Given the description of an element on the screen output the (x, y) to click on. 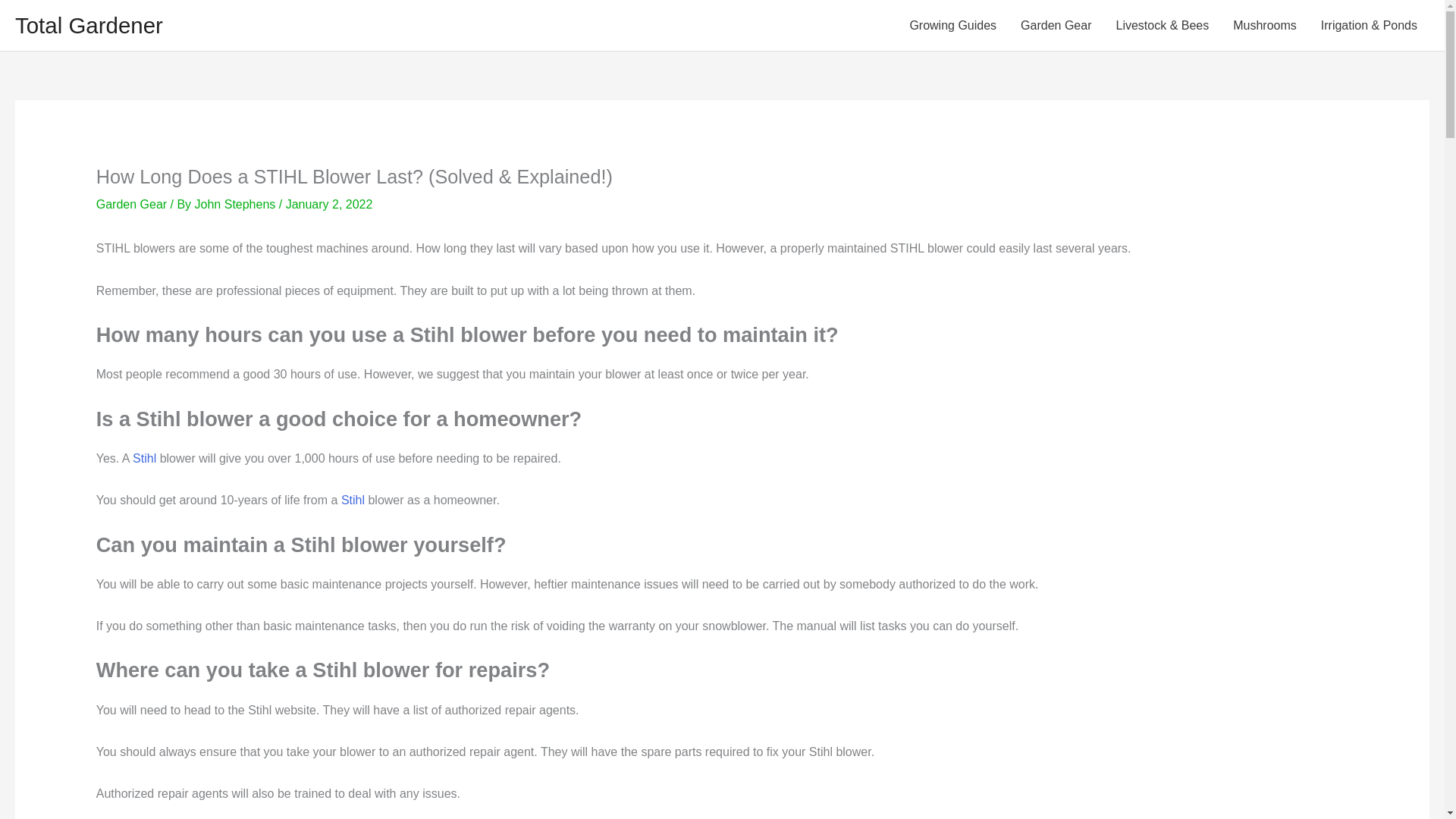
View all posts by John Stephens (235, 204)
Garden Gear (131, 204)
Garden Gear (1056, 25)
Mushrooms (1264, 25)
Stihl (352, 499)
Total Gardener (88, 25)
Stihl (143, 458)
Growing Guides (952, 25)
John Stephens (235, 204)
